Given the description of an element on the screen output the (x, y) to click on. 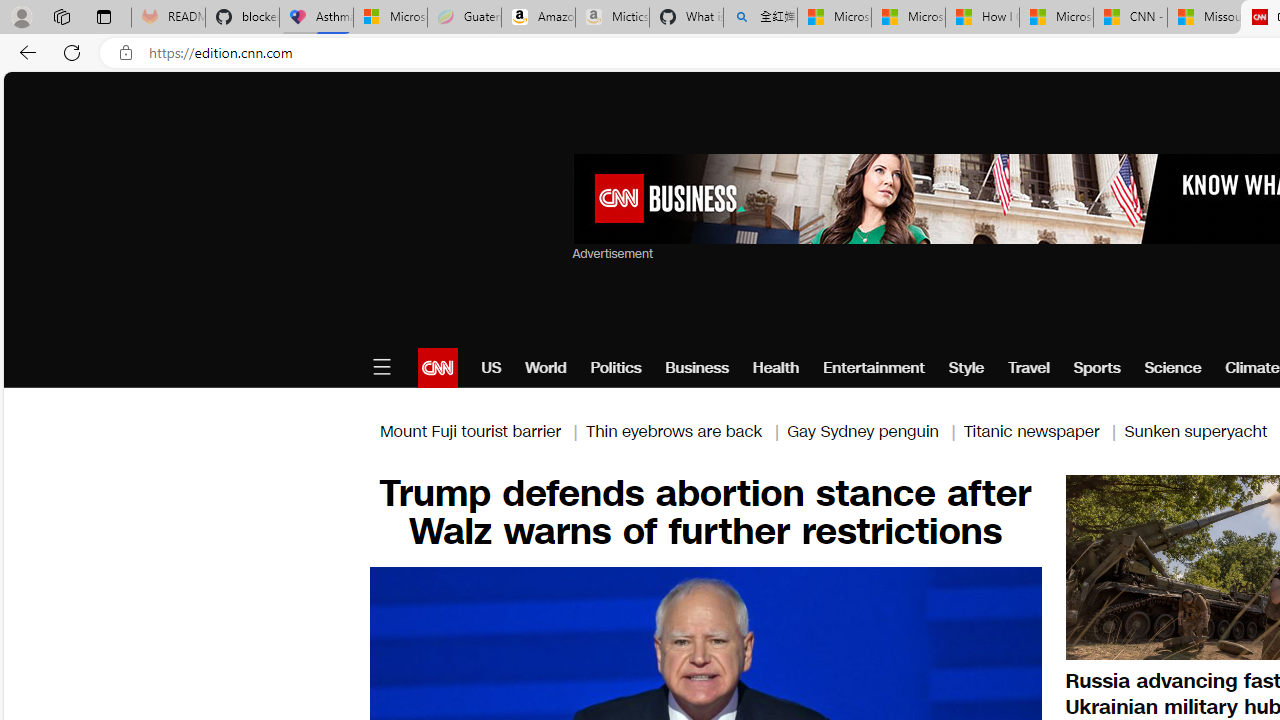
Mount Fuji tourist barrier | (482, 430)
Climate (1252, 367)
Travel (1028, 367)
How I Got Rid of Microsoft Edge's Unnecessary Features (981, 17)
Business (697, 367)
